Given the description of an element on the screen output the (x, y) to click on. 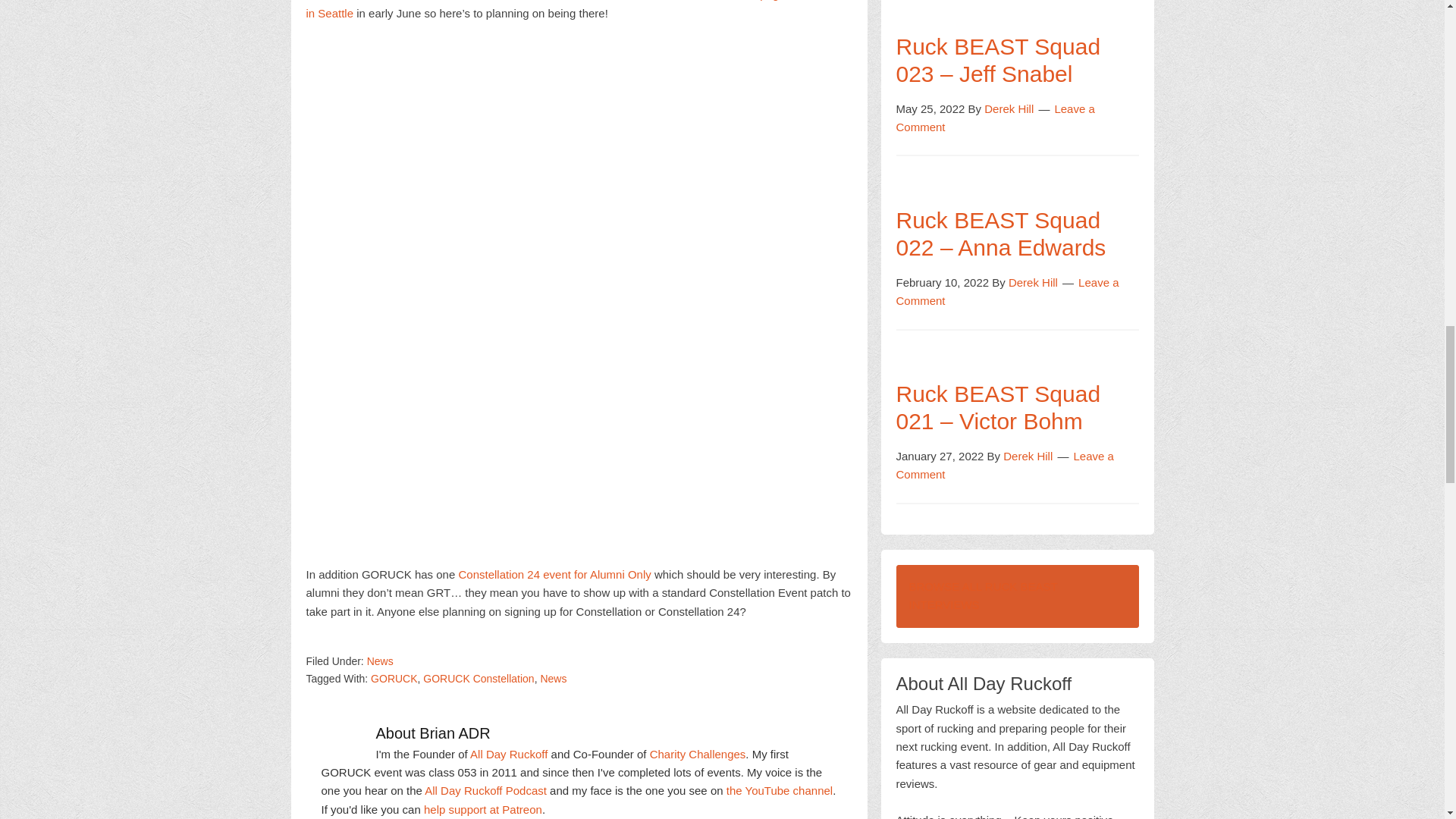
GORUCK Constellation 24 Patch (578, 292)
